Given the description of an element on the screen output the (x, y) to click on. 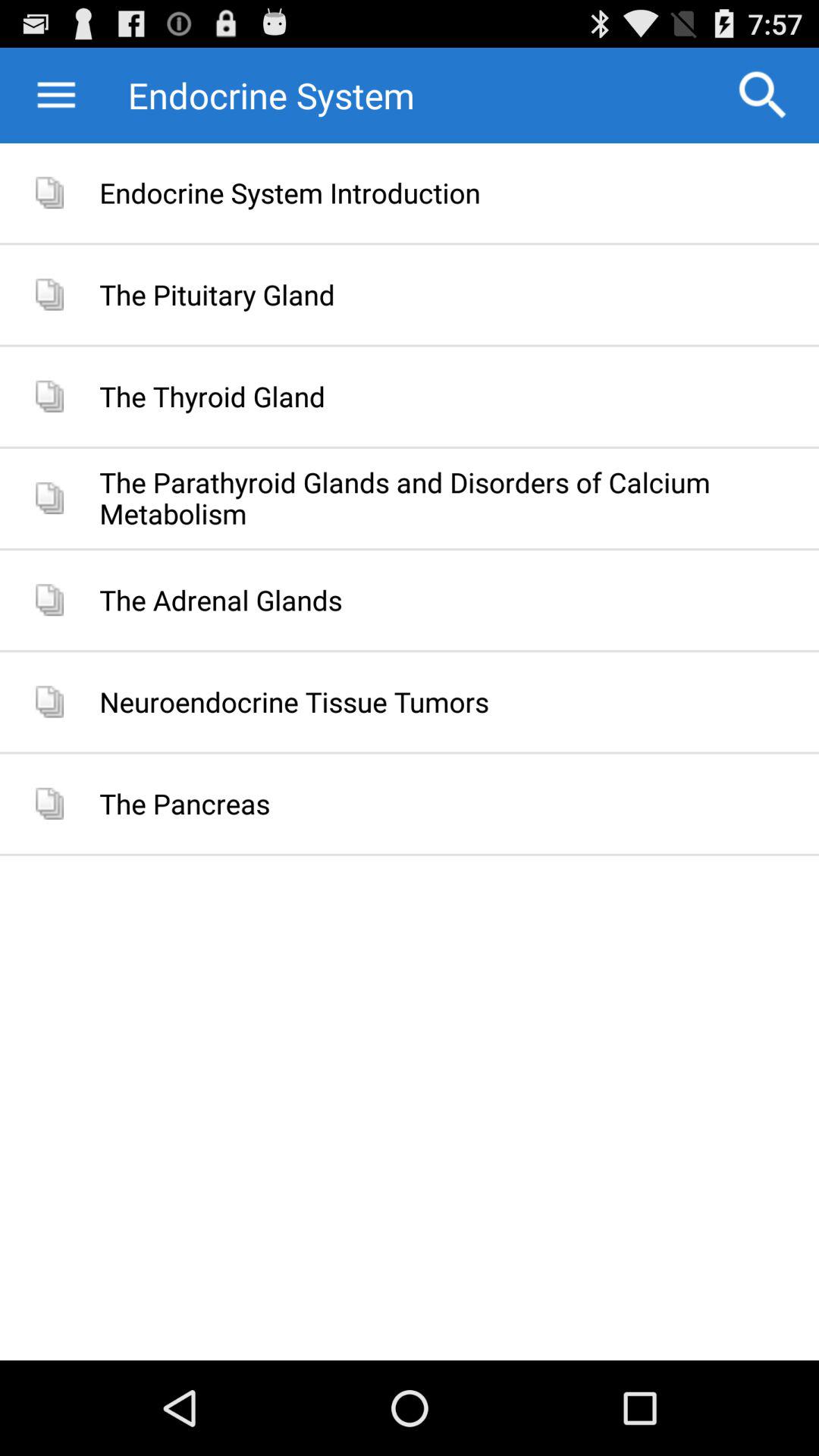
click on the last second icon on the page (49, 701)
click on search button (763, 95)
select the last icon (49, 804)
click on fourth icon from the top (49, 498)
